Given the description of an element on the screen output the (x, y) to click on. 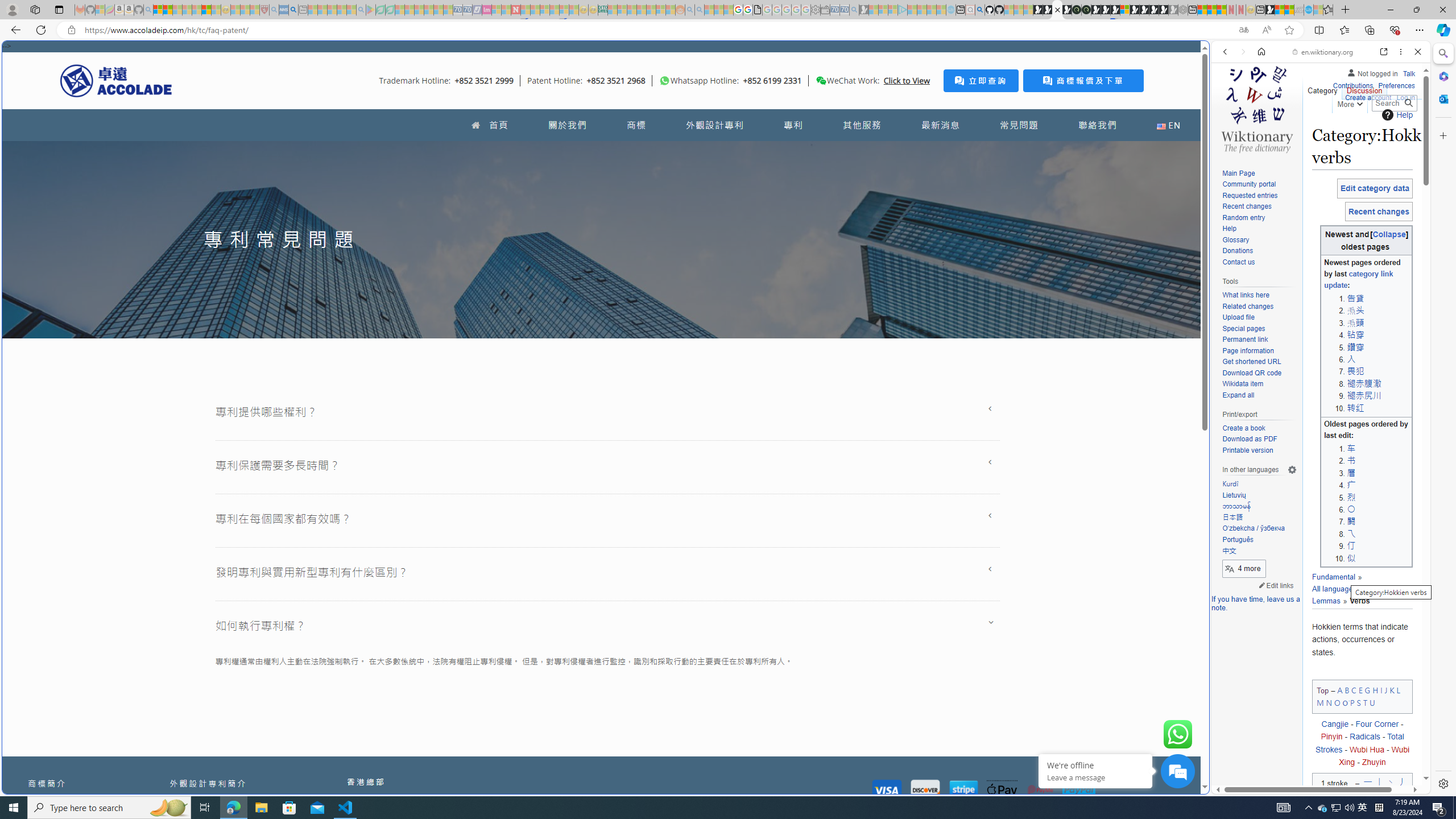
EN (1168, 124)
G (1367, 689)
Category (1322, 87)
Wubi Hua (1366, 749)
